Given the description of an element on the screen output the (x, y) to click on. 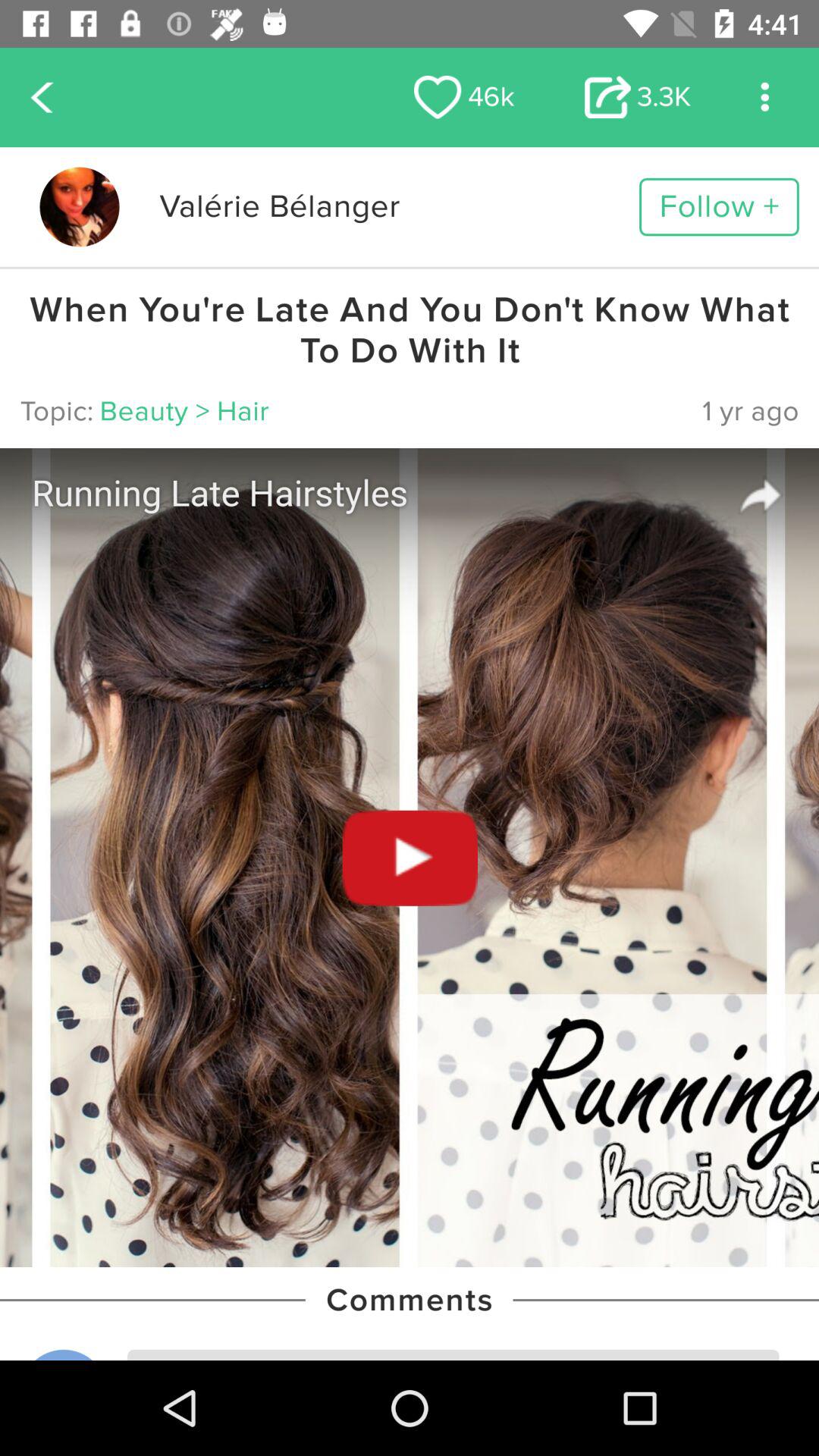
profile picture (79, 206)
